Given the description of an element on the screen output the (x, y) to click on. 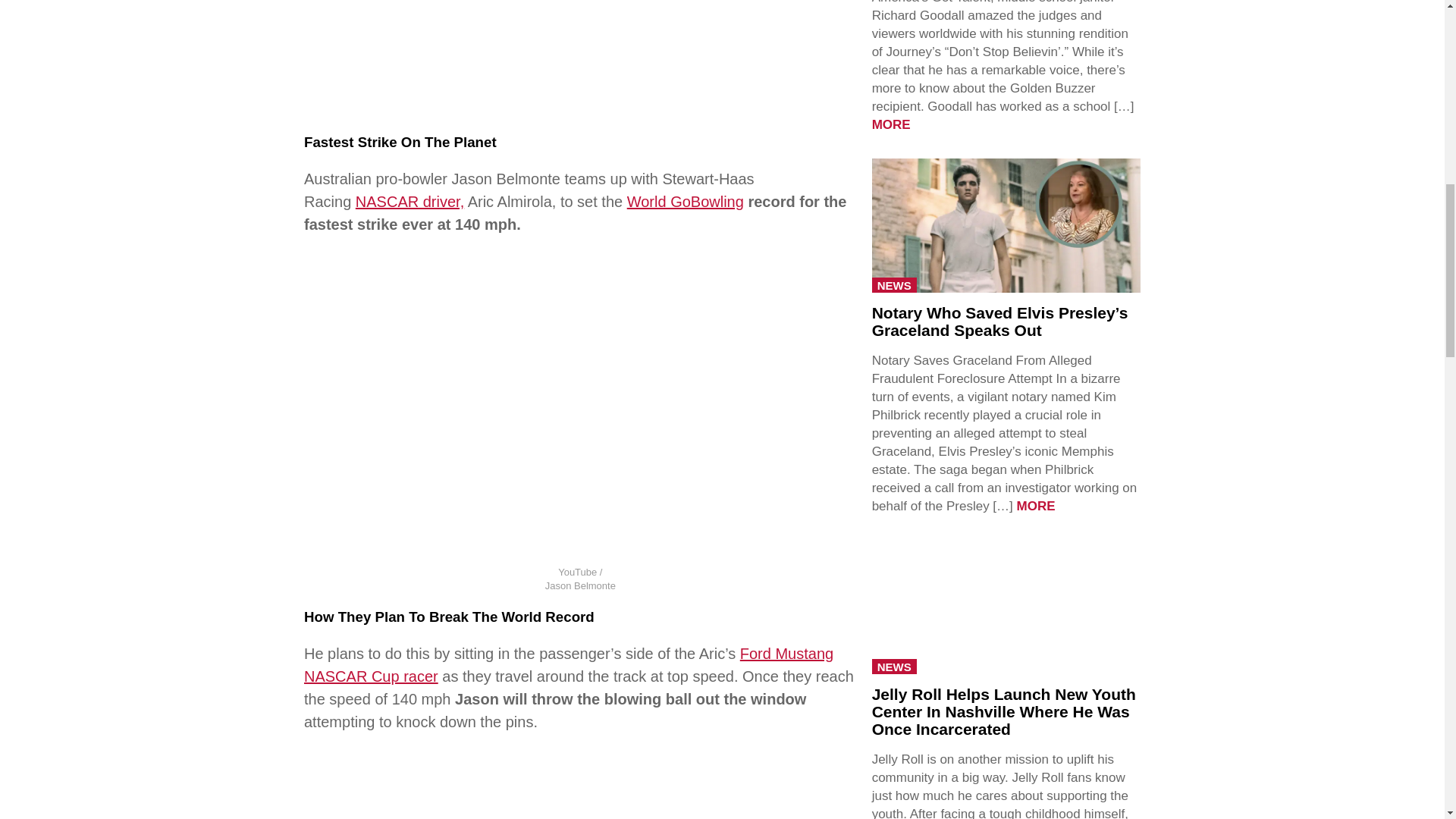
JellyOpensYouthCenter (1006, 605)
World GoBowling (685, 201)
MORE (1035, 505)
NEWS (894, 666)
NASCAR driver, (409, 201)
NEWS (894, 284)
Ford Mustang NASCAR Cup racer (568, 664)
MORE (891, 124)
